Given the description of an element on the screen output the (x, y) to click on. 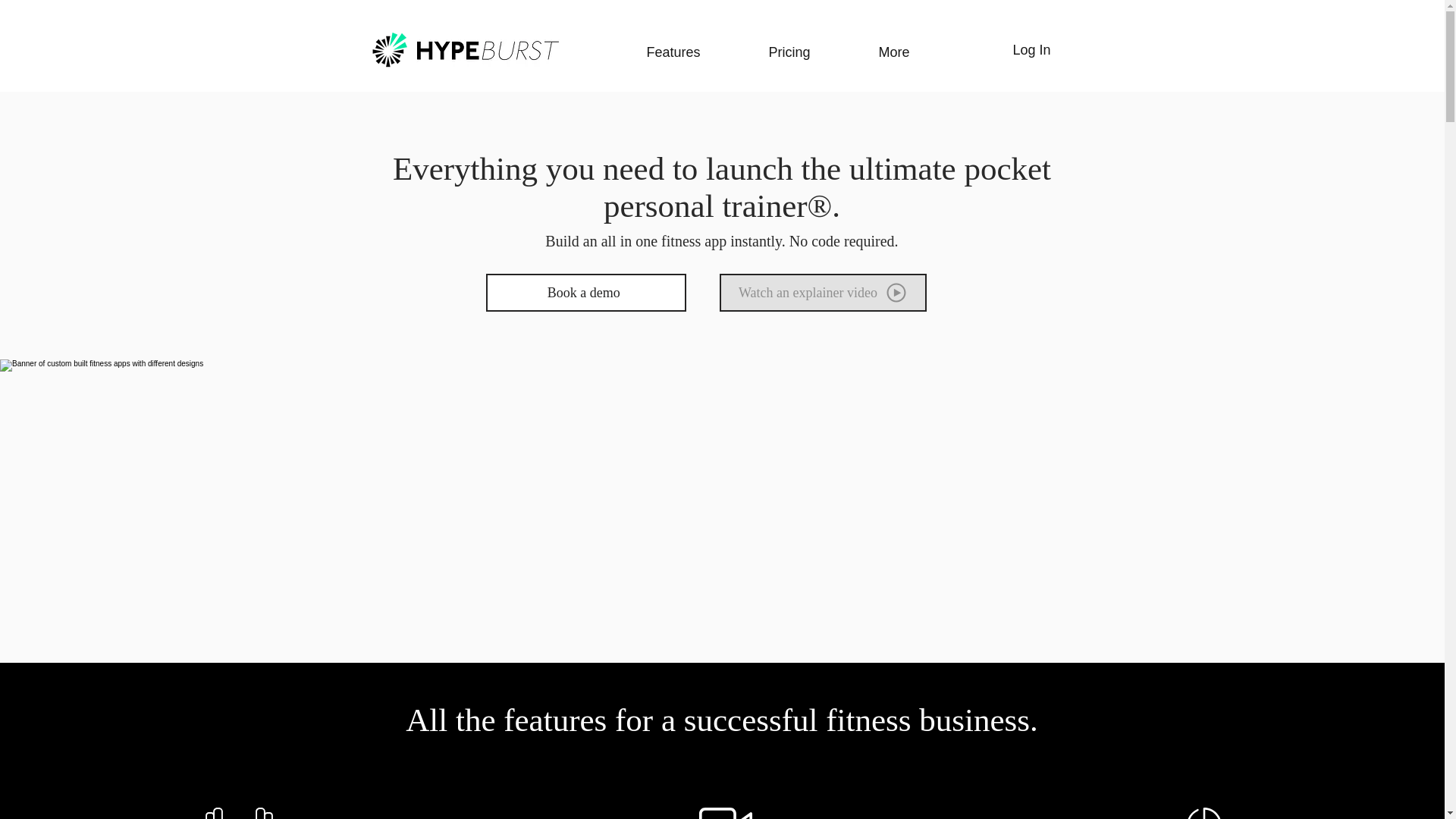
Log In (1030, 49)
Watch an explainer video (822, 292)
Features (646, 52)
Pricing (762, 52)
Book a demo (584, 292)
